Given the description of an element on the screen output the (x, y) to click on. 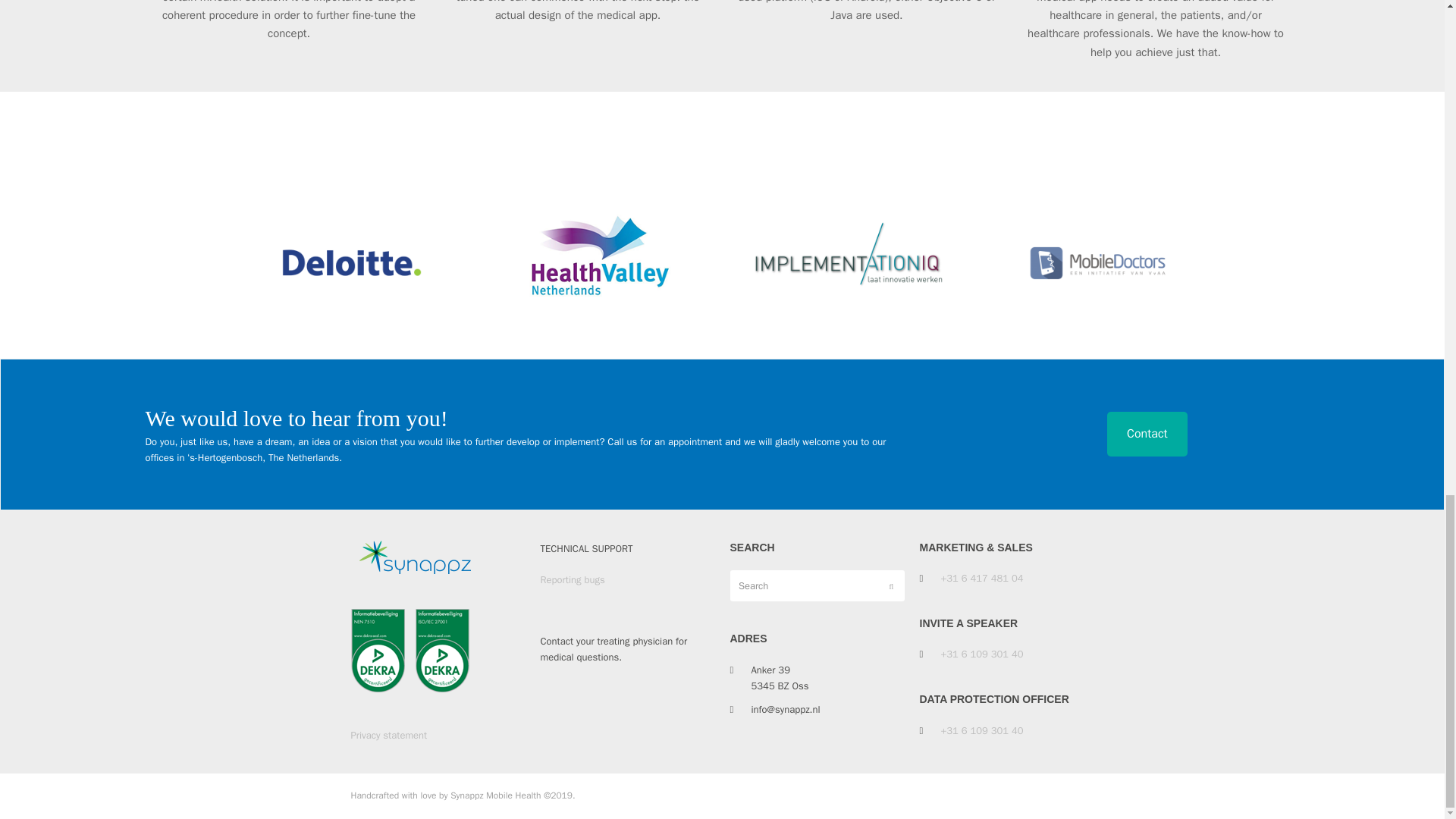
Reporting bugs (572, 579)
Submit (890, 585)
Privacy statement (388, 735)
Contact (1147, 433)
Contact (1147, 433)
